Given the description of an element on the screen output the (x, y) to click on. 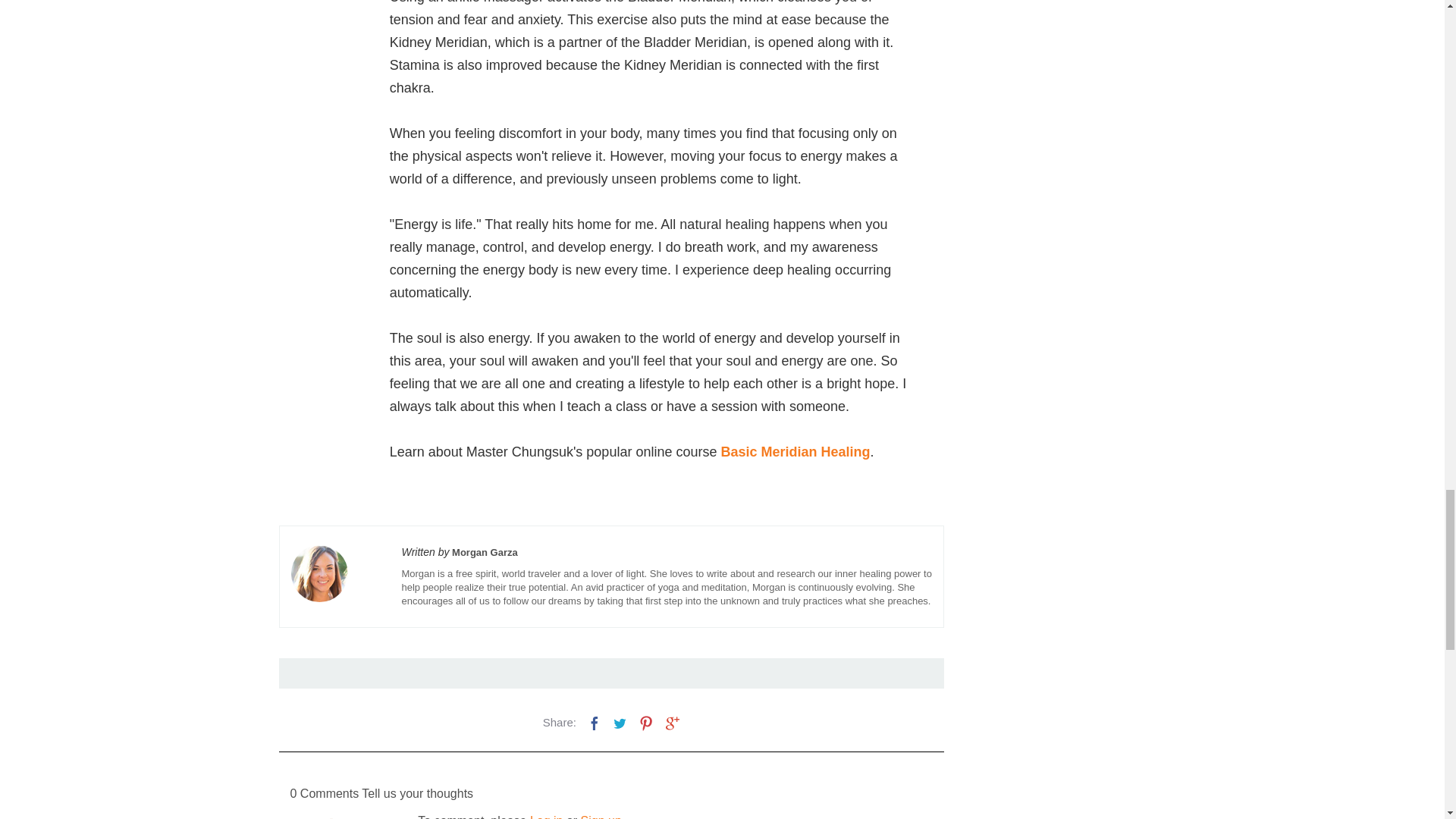
Basic Meridian Healing (794, 451)
Facebook (594, 723)
Twitter (619, 721)
Facebook (594, 721)
